Given the description of an element on the screen output the (x, y) to click on. 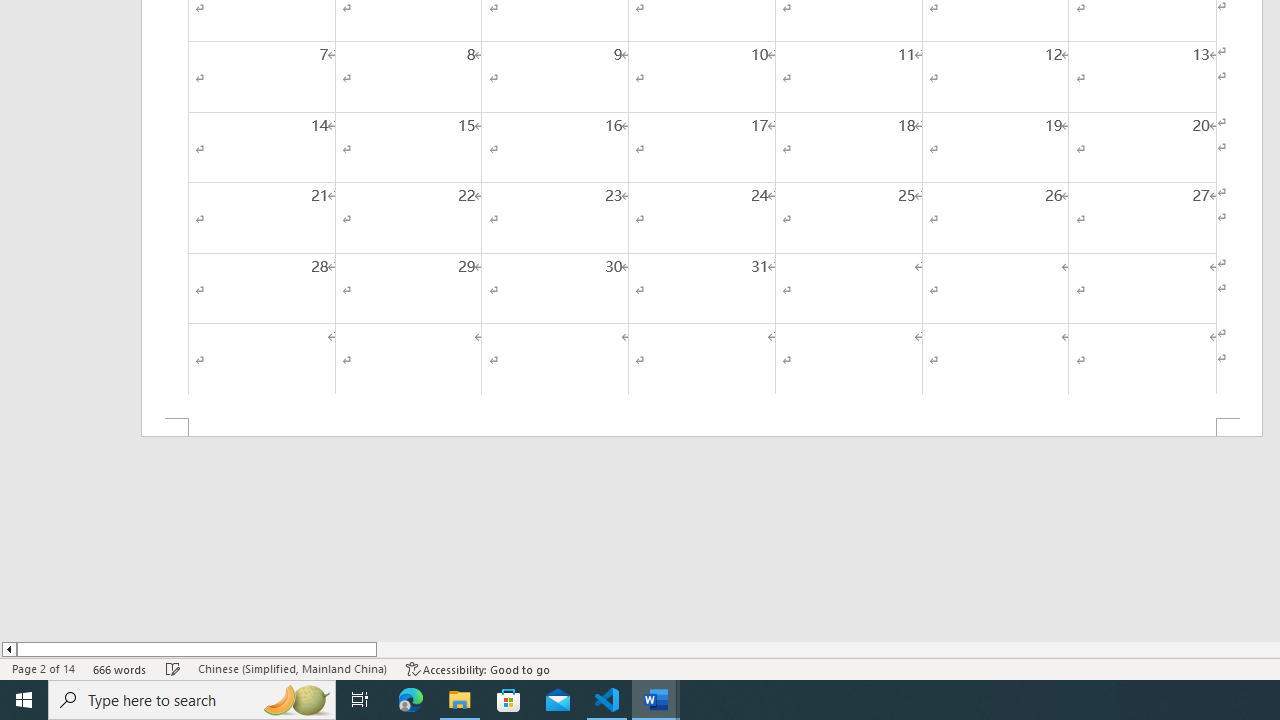
Word Count 666 words (119, 668)
Spelling and Grammar Check Checking (173, 668)
Page Number Page 2 of 14 (43, 668)
Footer -Section 1- (701, 427)
Accessibility Checker Accessibility: Good to go (478, 668)
Column left (8, 649)
Language Chinese (Simplified, Mainland China) (292, 668)
